Given the description of an element on the screen output the (x, y) to click on. 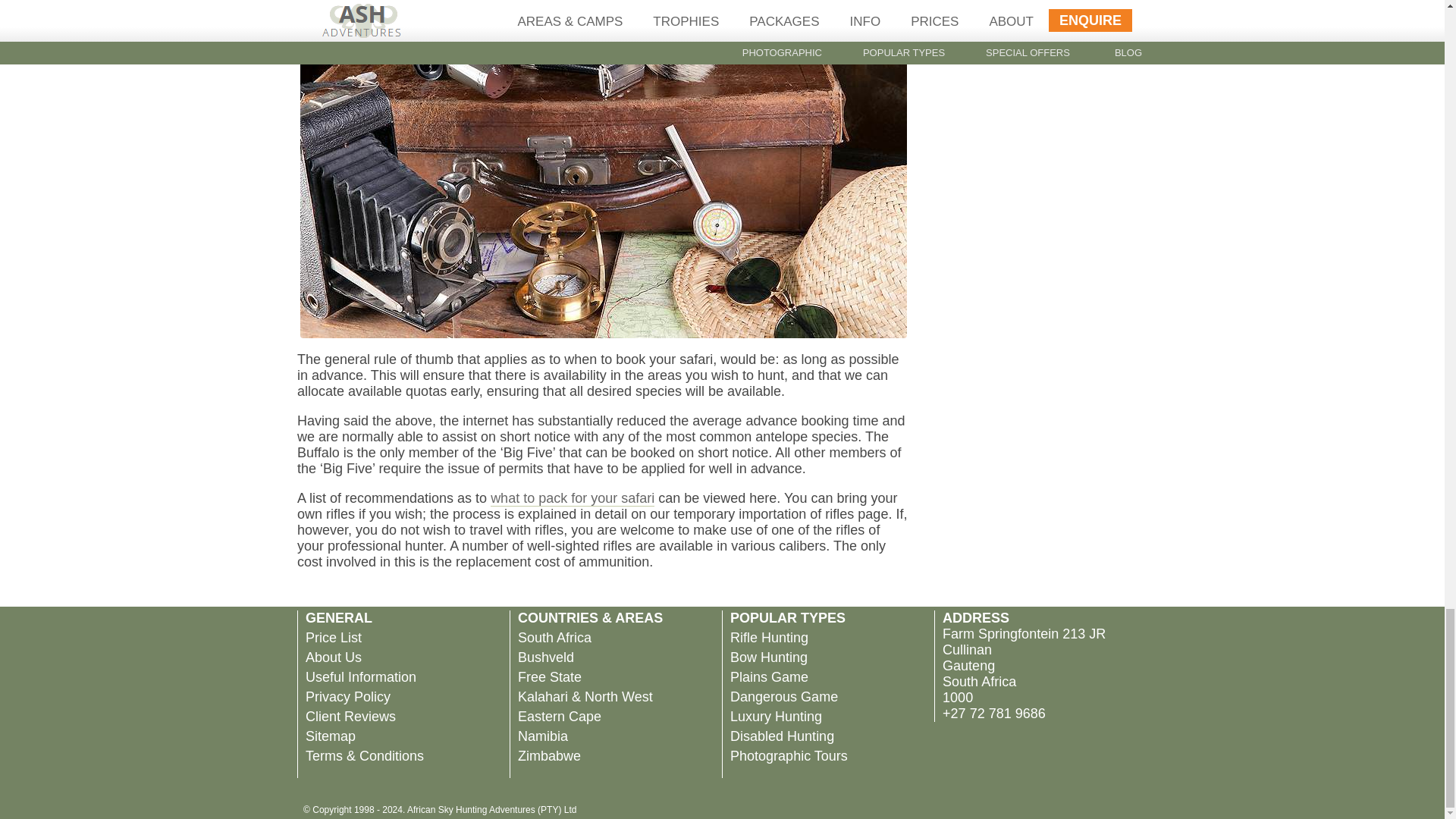
Free State (549, 676)
Useful Information (360, 676)
About Us (333, 656)
South Africa (554, 636)
Client Reviews (350, 715)
Bushveld (545, 656)
Sitemap (330, 735)
Privacy Policy (347, 695)
what to pack for your safari (571, 497)
Price List (333, 636)
Eastern Cape (559, 715)
